Given the description of an element on the screen output the (x, y) to click on. 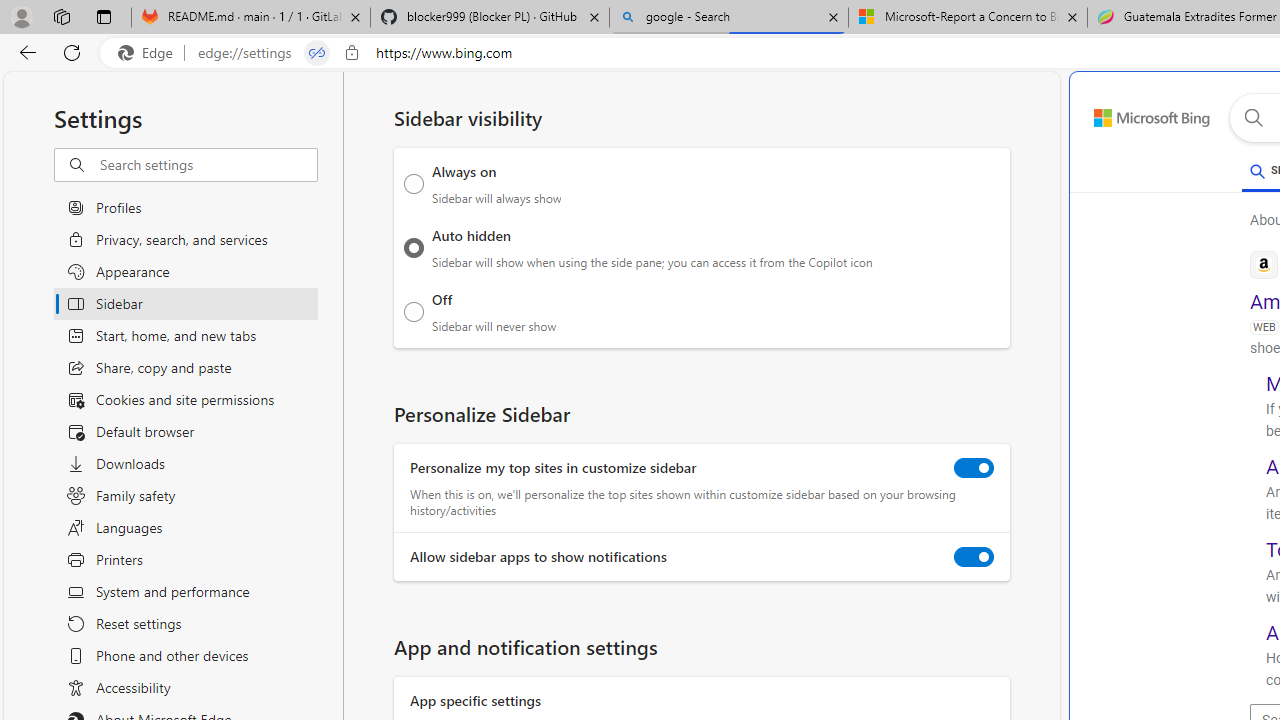
google - Search (729, 17)
Search settings (207, 165)
Allow sidebar apps to show notifications (973, 557)
Always on Sidebar will always show (413, 183)
Edge (150, 53)
Personalize my top sites in customize sidebar (973, 467)
